Given the description of an element on the screen output the (x, y) to click on. 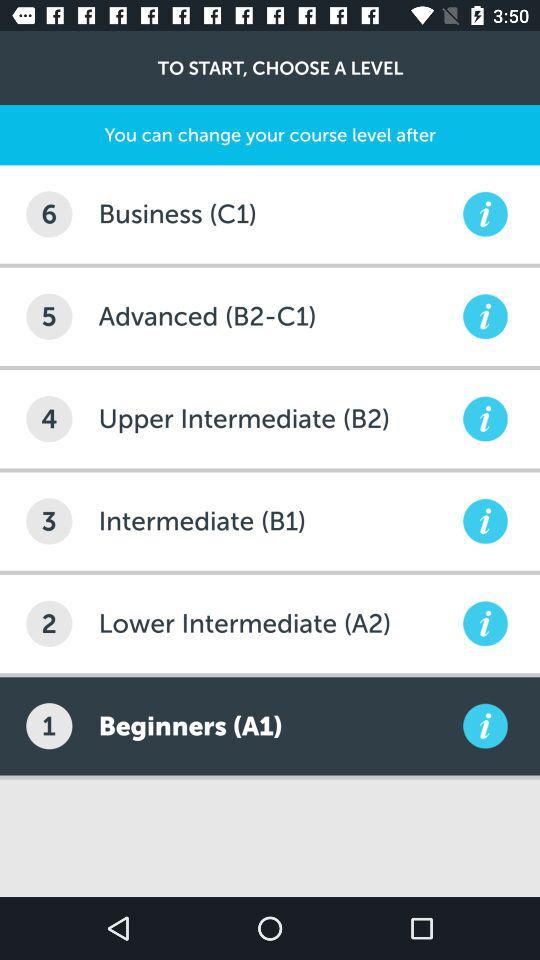
go to information (485, 214)
